Given the description of an element on the screen output the (x, y) to click on. 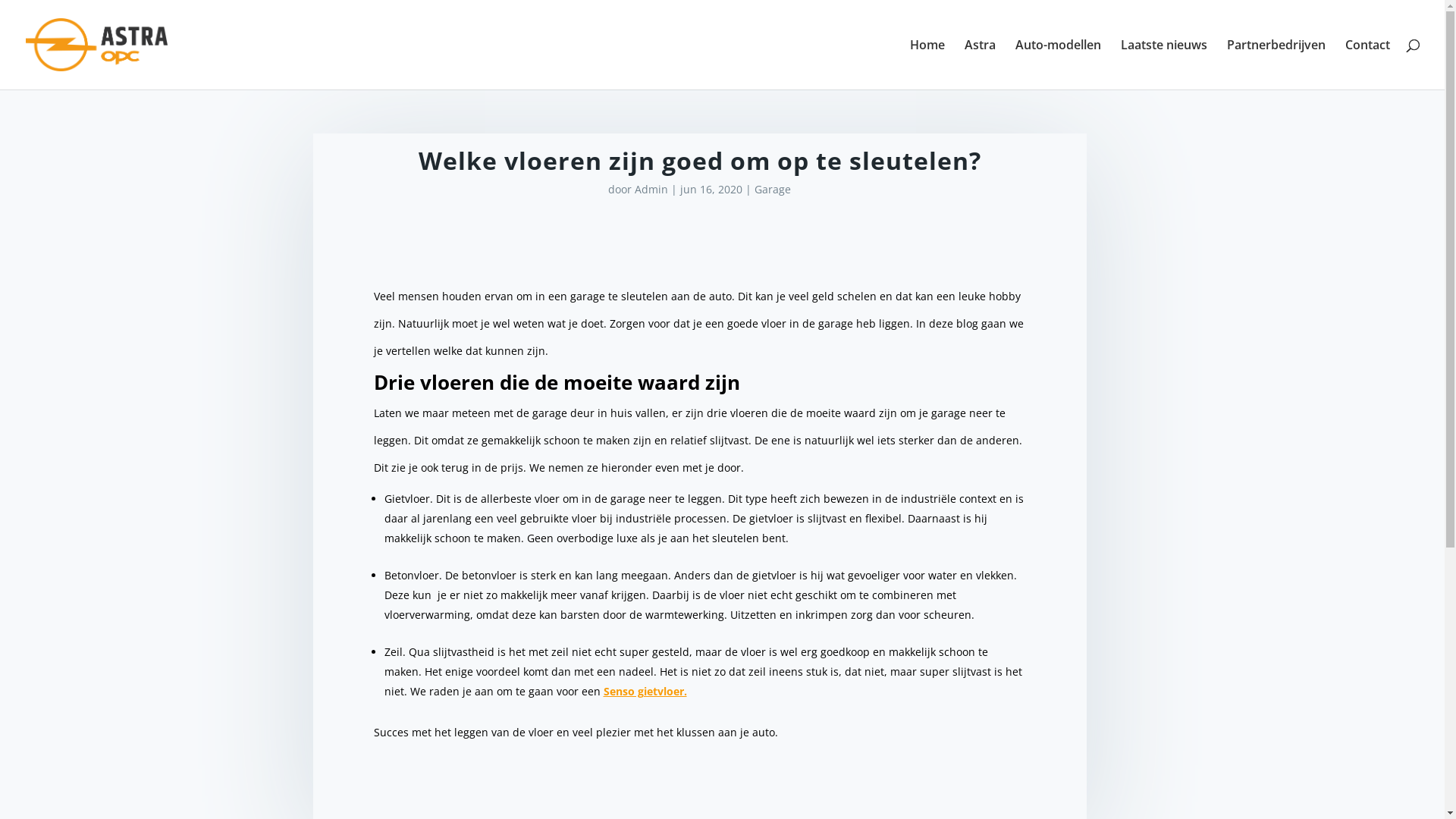
Senso gietvloer. Element type: text (645, 691)
Admin Element type: text (651, 189)
Contact Element type: text (1367, 64)
Home Element type: text (927, 64)
Astra Element type: text (979, 64)
Garage Element type: text (772, 189)
Laatste nieuws Element type: text (1163, 64)
Partnerbedrijven Element type: text (1275, 64)
Auto-modellen Element type: text (1058, 64)
